Given the description of an element on the screen output the (x, y) to click on. 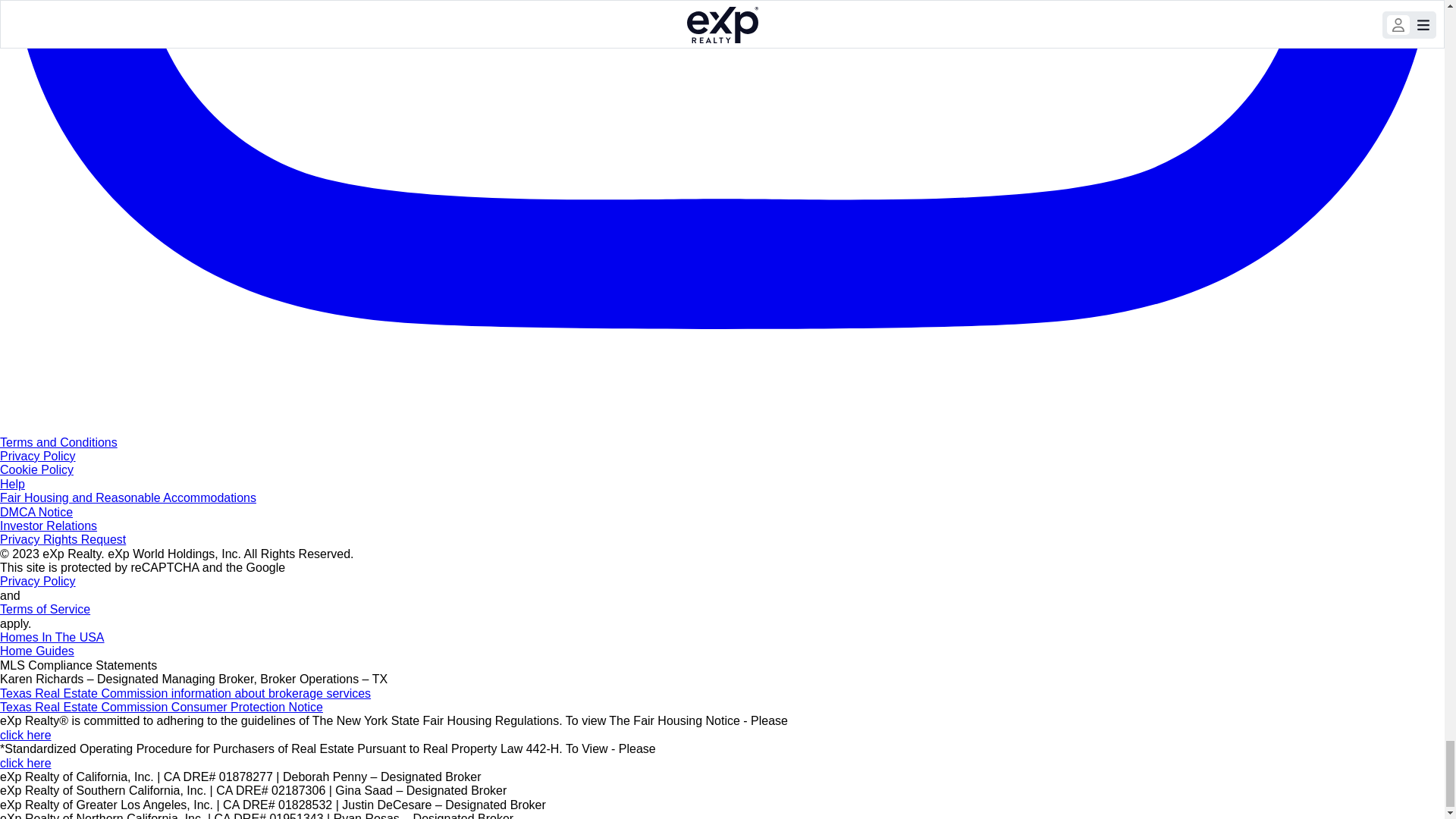
Privacy Policy (37, 581)
click here (25, 762)
Home Guides (37, 650)
Texas Real Estate Commission Consumer Protection Notice (161, 707)
Terms and Conditions (58, 441)
Terms of Service (45, 608)
Help (12, 483)
Investor Relations (48, 525)
Privacy Policy (37, 455)
click here (25, 735)
Cookie Policy (37, 469)
Homes In The USA (52, 636)
DMCA Notice (36, 512)
Privacy Rights Request (62, 539)
